Given the description of an element on the screen output the (x, y) to click on. 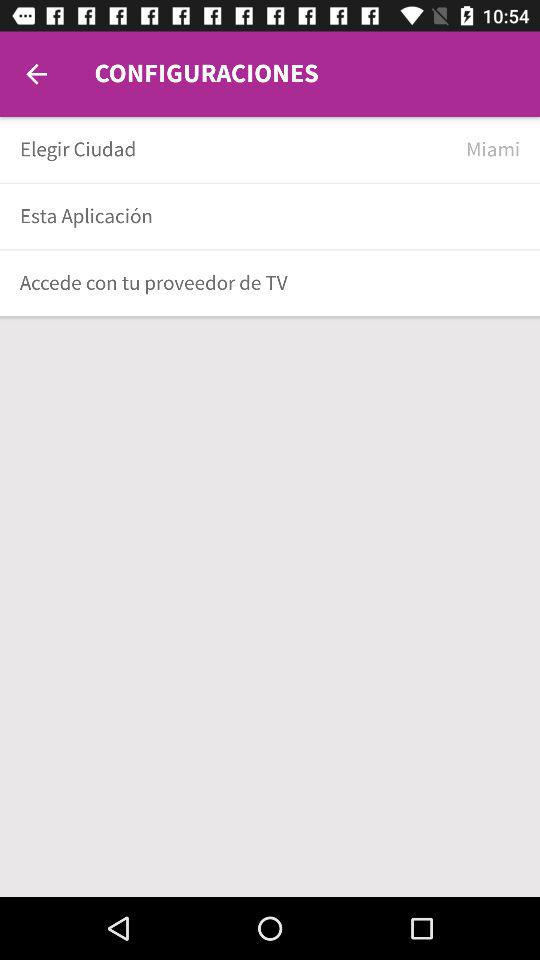
turn on accede con tu item (263, 282)
